Given the description of an element on the screen output the (x, y) to click on. 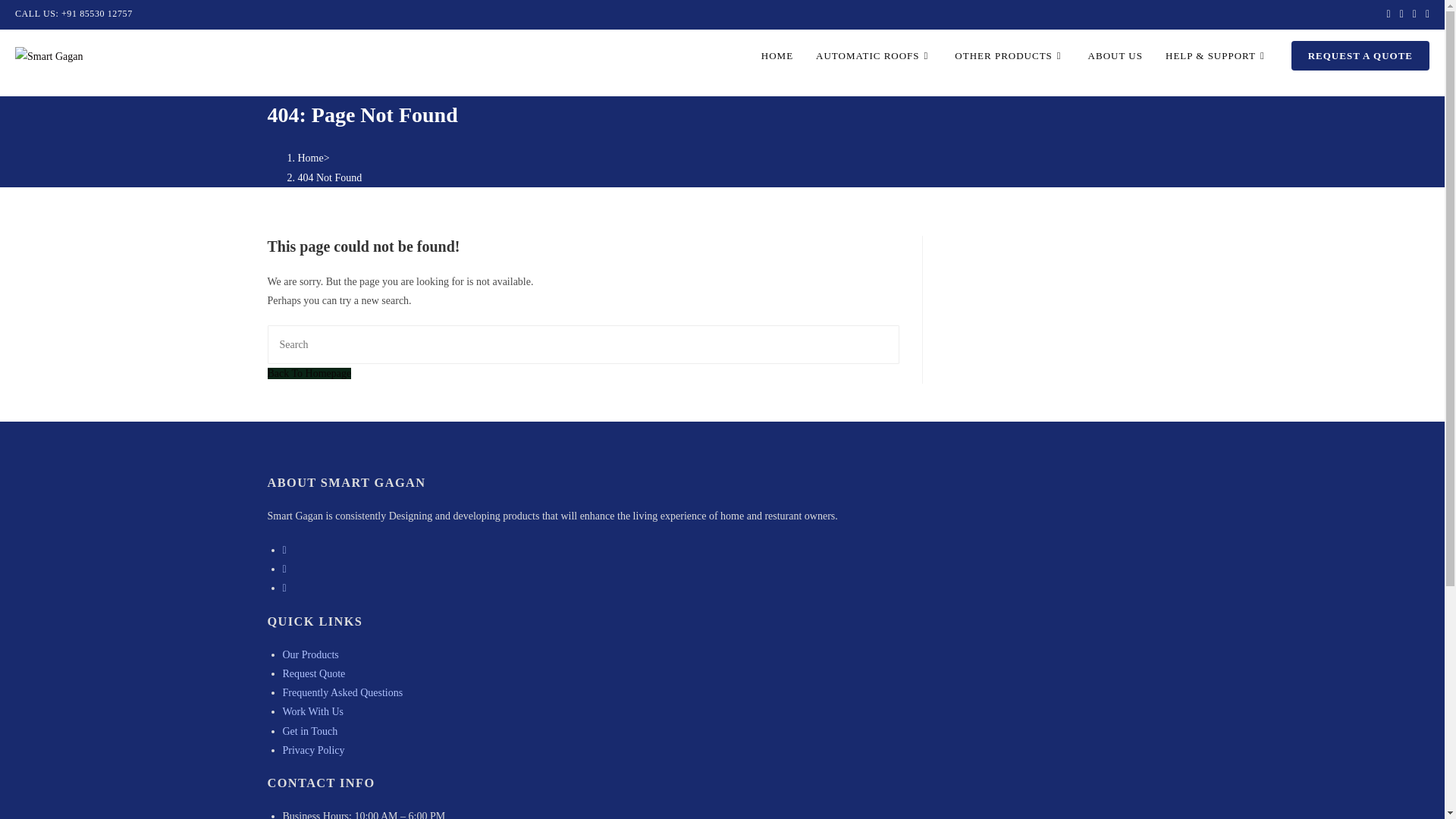
AUTOMATIC ROOFS (874, 55)
HOME (777, 55)
OTHER PRODUCTS (1009, 55)
REQUEST A QUOTE (1360, 55)
ABOUT US (1115, 55)
Home (310, 157)
Our Products (309, 654)
Back To Homepage (308, 373)
